Given the description of an element on the screen output the (x, y) to click on. 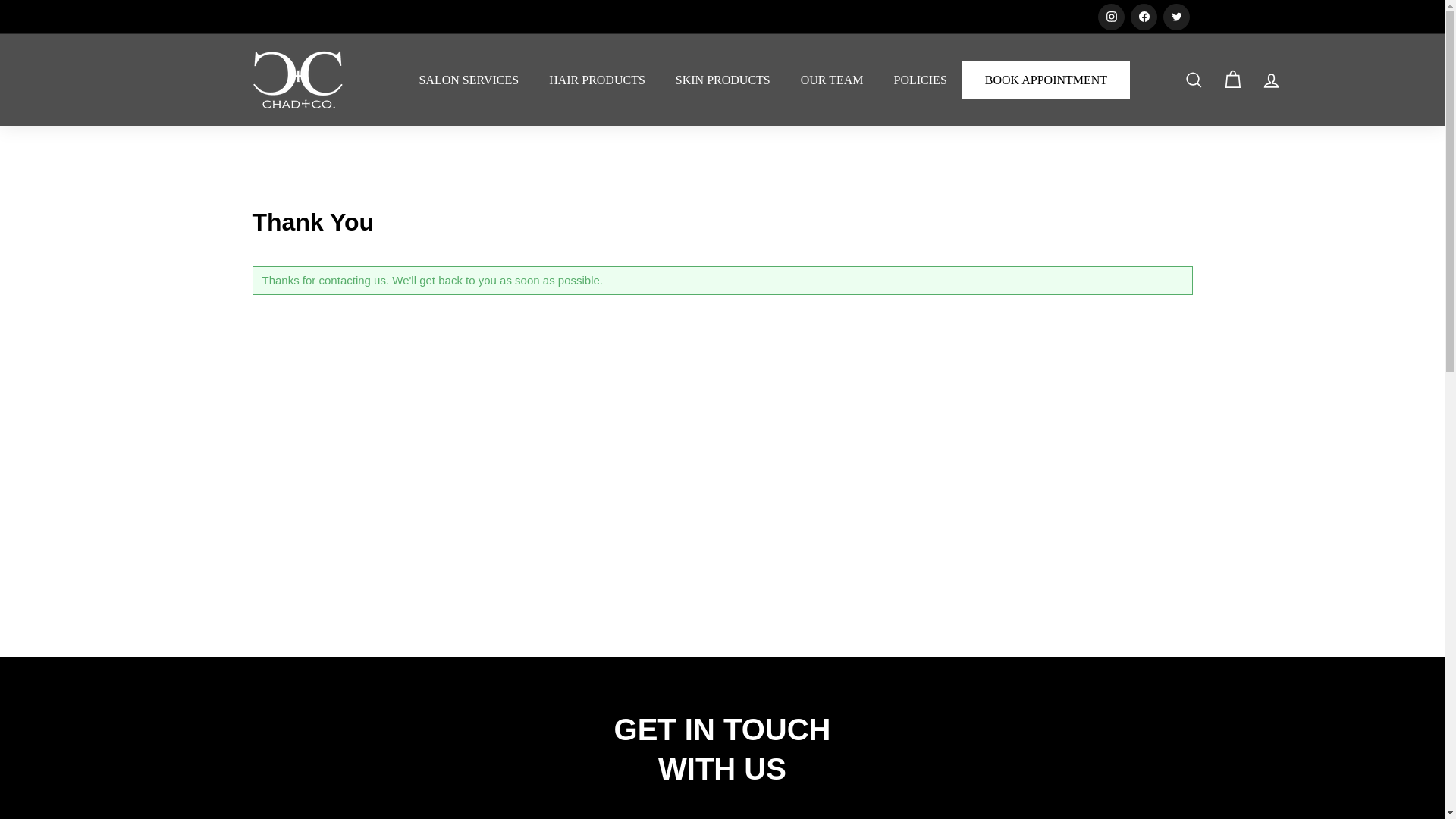
Facebook (1142, 17)
Hair Products (597, 80)
Salon Services (468, 80)
Twitter (1176, 17)
HAIR PRODUCTS (597, 80)
chadandco on Twitter (1176, 17)
Instagram (1110, 17)
SALON SERVICES (468, 80)
chadandco on Instagram (1110, 17)
chadandco on Facebook (1142, 17)
